Given the description of an element on the screen output the (x, y) to click on. 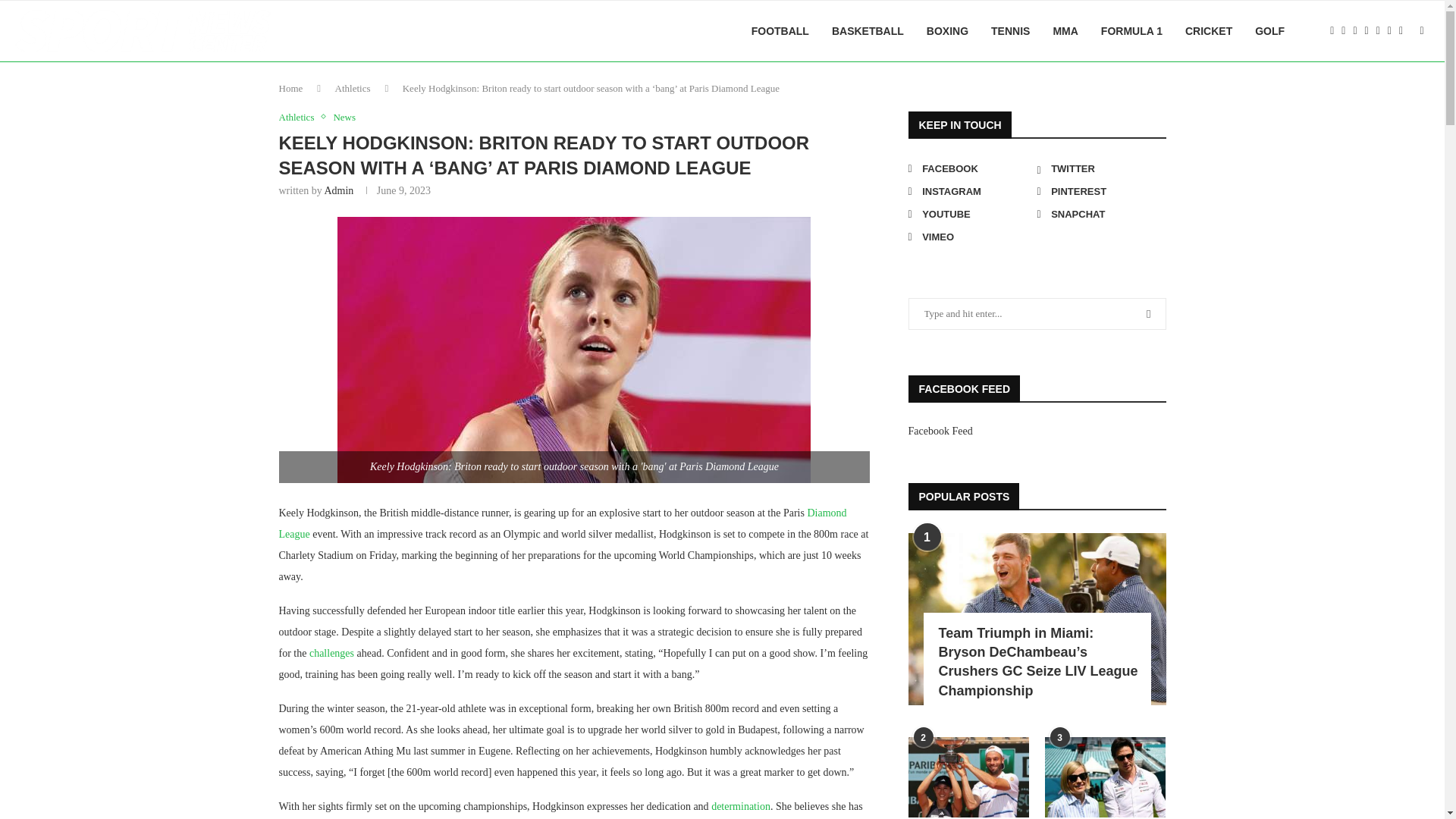
Home (290, 88)
challenges (330, 653)
Athletics (352, 88)
News (344, 117)
Admin (338, 190)
BASKETBALL (867, 30)
FORMULA 1 (1130, 30)
Charles Leclerc: Committed to a Ferrari Future (740, 806)
Keely Hodgkinson (573, 350)
Diamond League (563, 522)
determination (740, 806)
FOOTBALL (780, 30)
Athletics (300, 117)
